Given the description of an element on the screen output the (x, y) to click on. 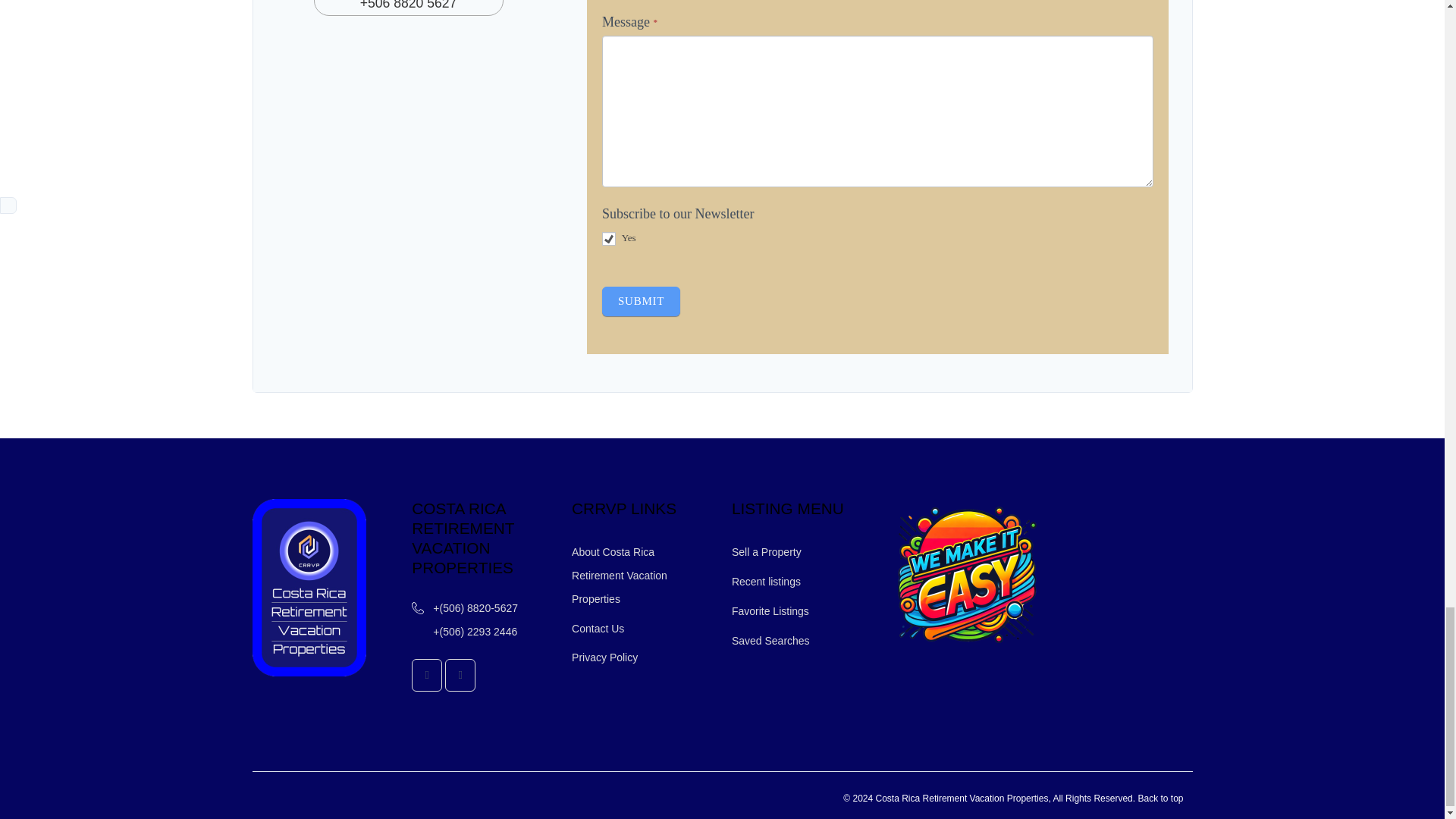
Yes (608, 238)
